Given the description of an element on the screen output the (x, y) to click on. 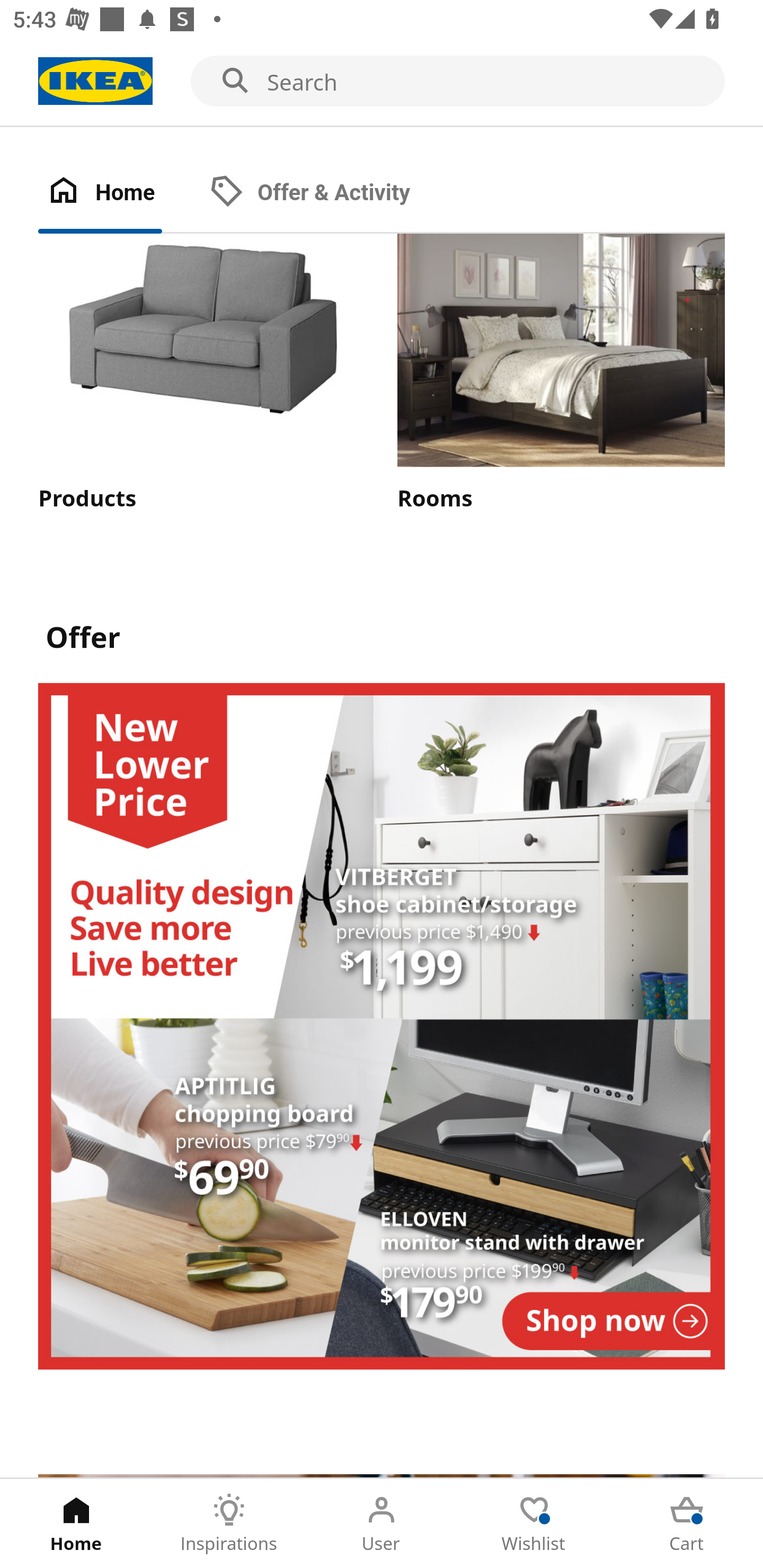
Search (381, 81)
Home
Tab 1 of 2 (118, 192)
Offer & Activity
Tab 2 of 2 (327, 192)
Products (201, 373)
Rooms (560, 373)
Home
Tab 1 of 5 (76, 1522)
Inspirations
Tab 2 of 5 (228, 1522)
User
Tab 3 of 5 (381, 1522)
Wishlist
Tab 4 of 5 (533, 1522)
Cart
Tab 5 of 5 (686, 1522)
